Given the description of an element on the screen output the (x, y) to click on. 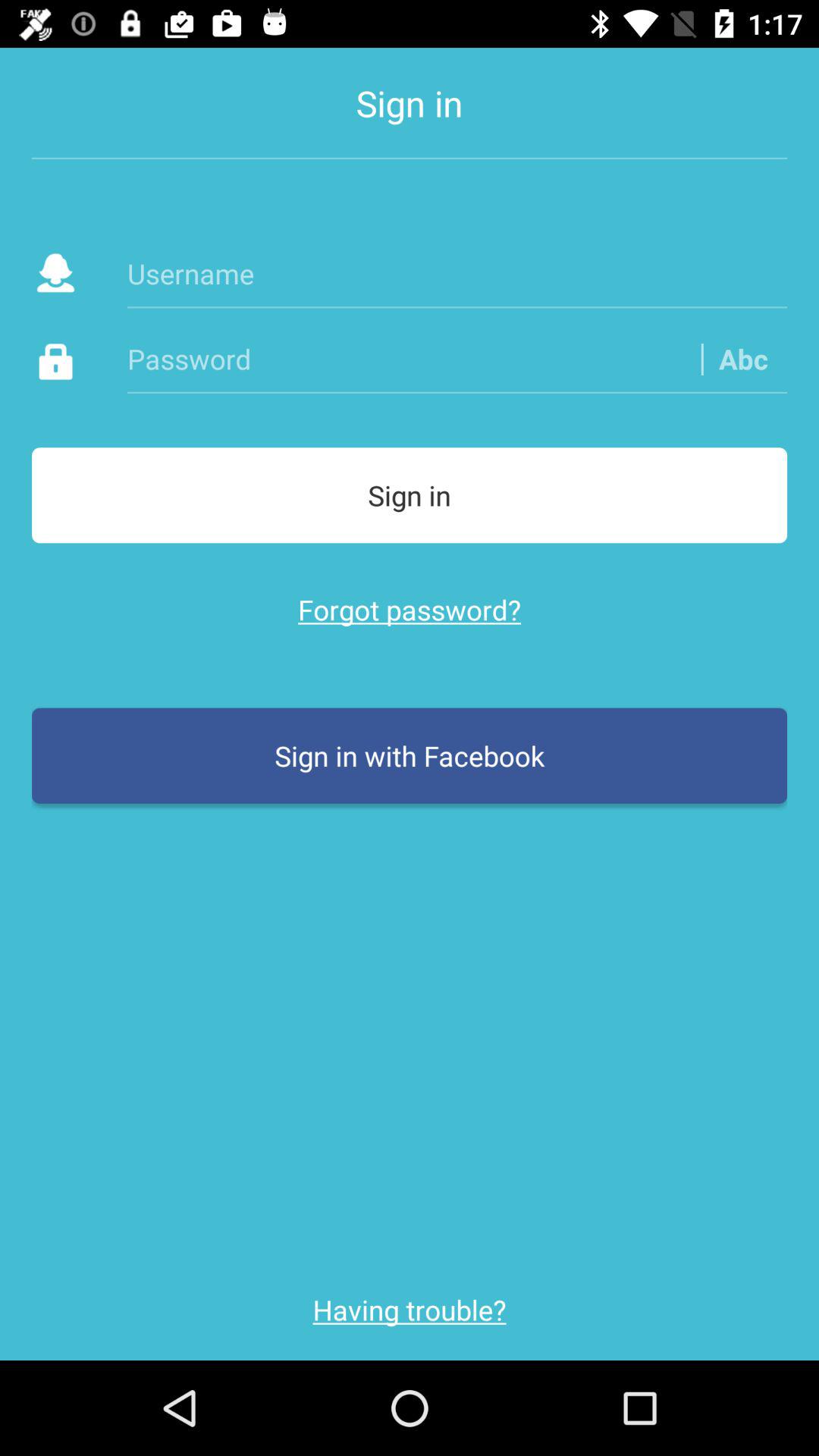
choose the abc (743, 358)
